Given the description of an element on the screen output the (x, y) to click on. 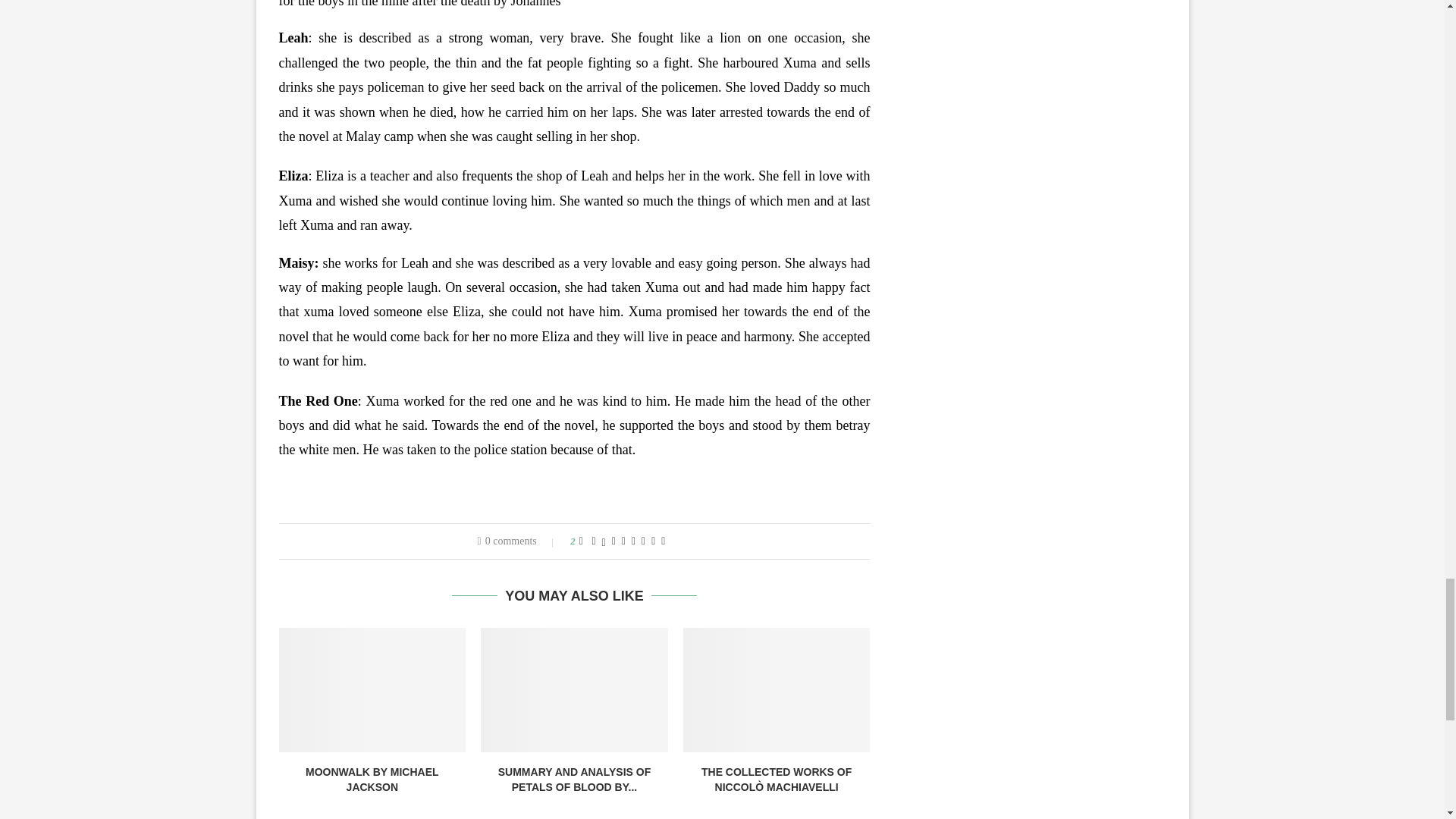
SUMMARY AND ANALYSIS OF PETALS OF BLOOD BY... (573, 779)
Moonwalk by Michael Jackson (372, 690)
MOONWALK BY MICHAEL JACKSON (372, 779)
SUMMARY AND ANALYSIS OF PETALS OF BLOOD BY NGUGI WA THIONGO (574, 690)
